Given the description of an element on the screen output the (x, y) to click on. 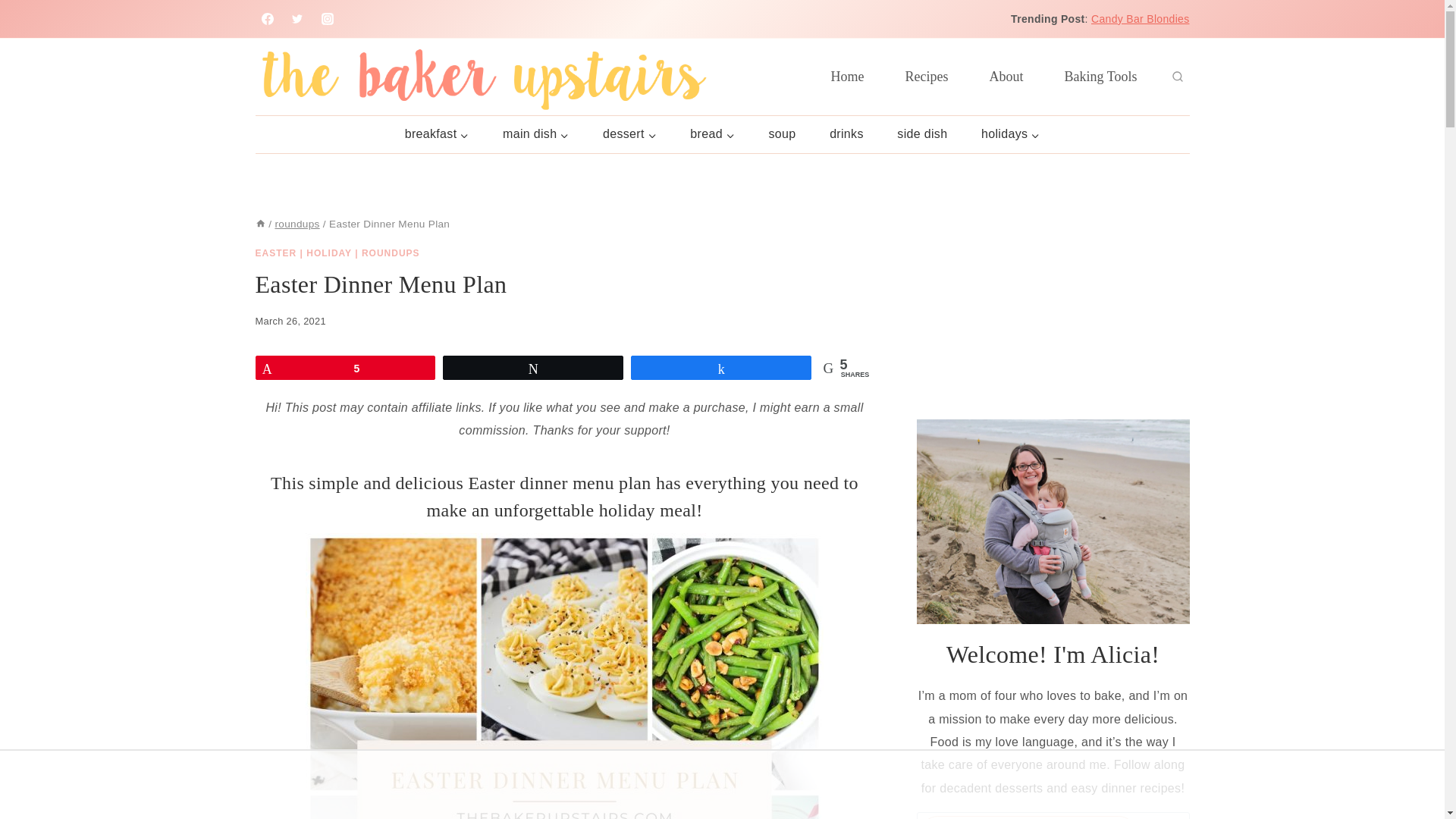
Home (847, 76)
Recipes (927, 76)
Candy Bar Blondies (1139, 19)
Home (259, 224)
main dish (536, 134)
holidays (1010, 134)
breakfast (435, 134)
bread (711, 134)
soup (781, 134)
side dish (921, 134)
